Given the description of an element on the screen output the (x, y) to click on. 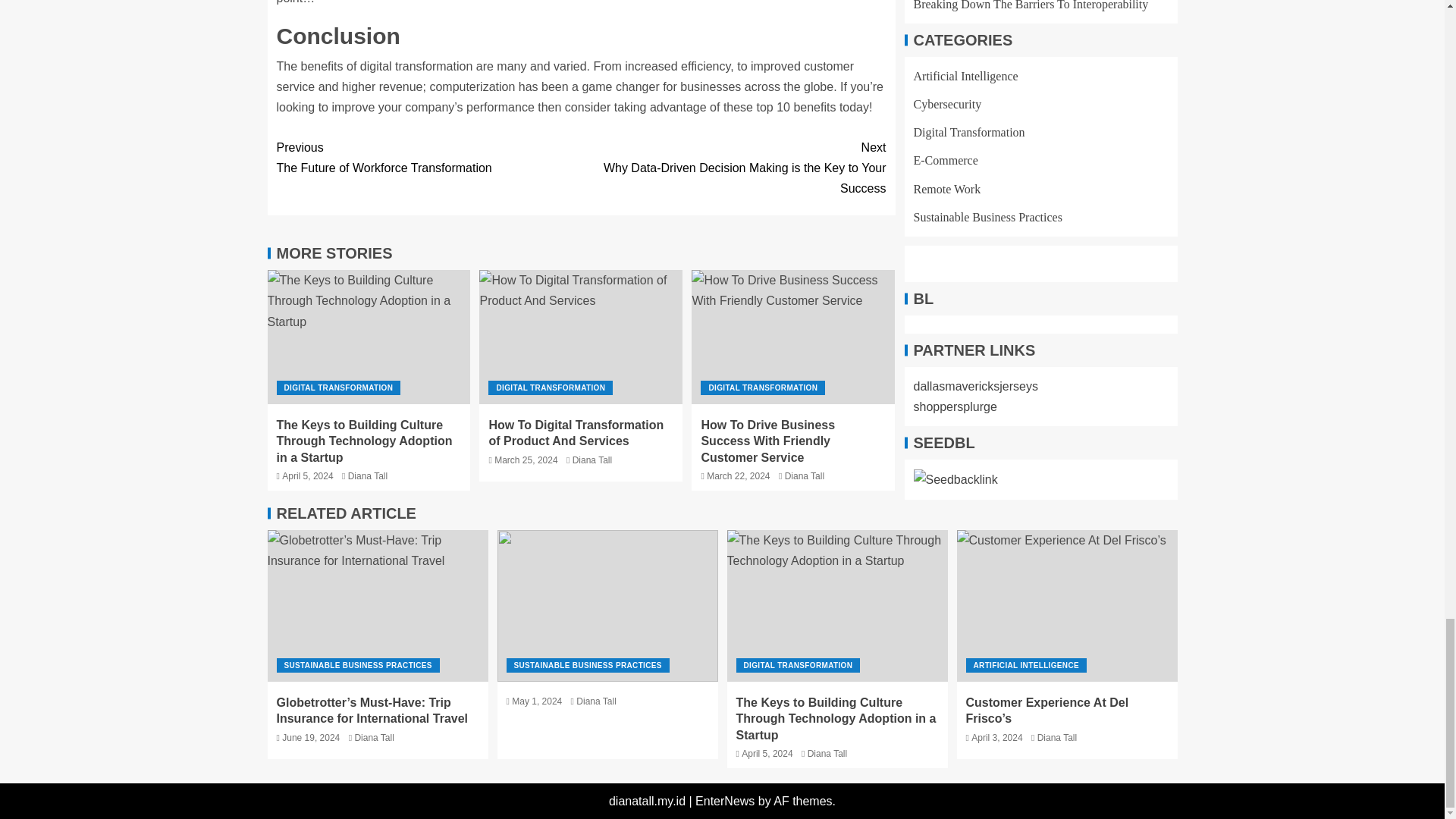
DIGITAL TRANSFORMATION (428, 157)
